Given the description of an element on the screen output the (x, y) to click on. 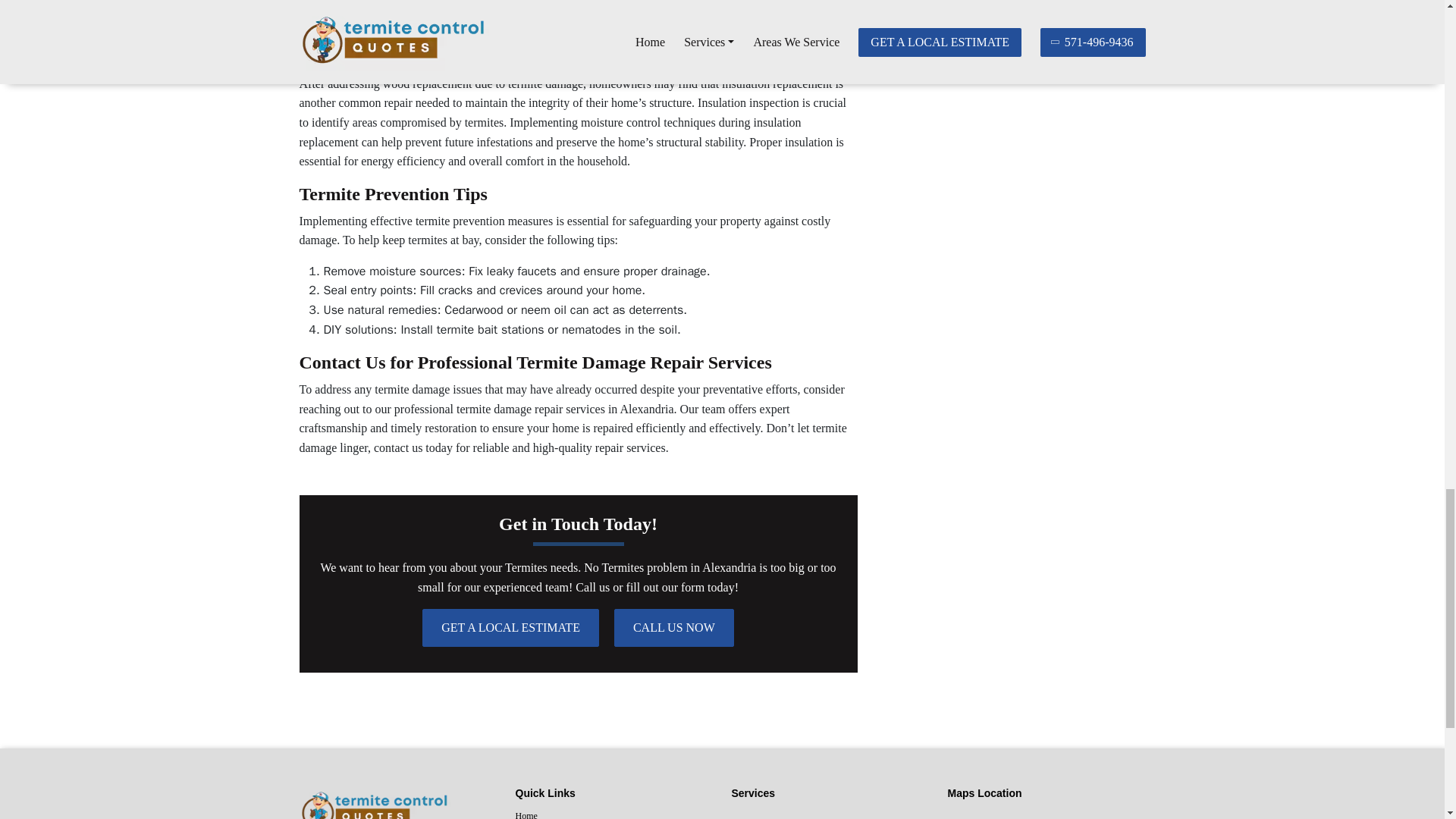
Home (614, 812)
CALL US NOW (673, 628)
GET A LOCAL ESTIMATE (510, 628)
